Given the description of an element on the screen output the (x, y) to click on. 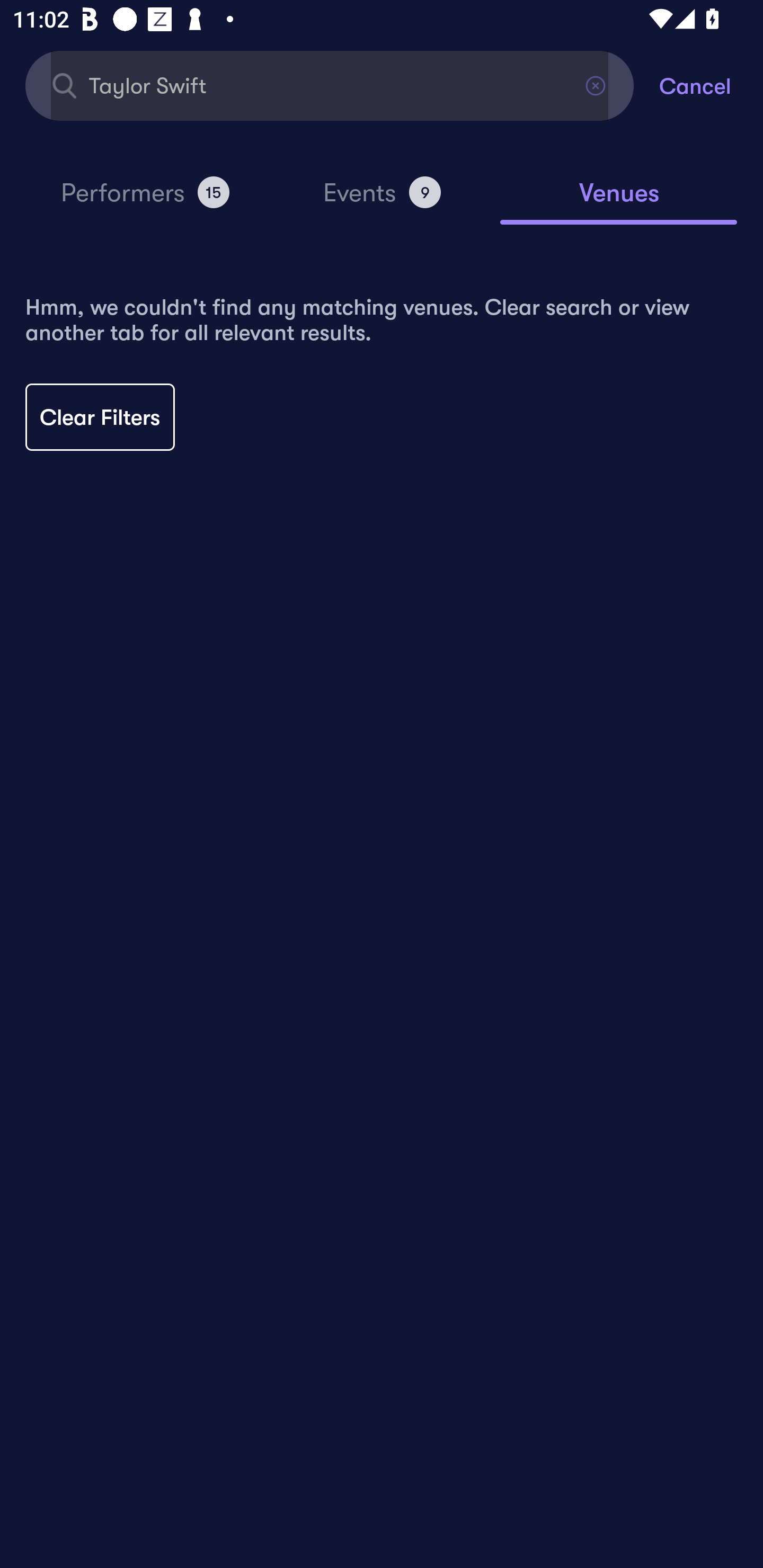
Taylor Swift Find (329, 85)
Taylor Swift Find (329, 85)
Cancel (711, 85)
Performers 15 (144, 200)
Events 9 (381, 200)
Venues (618, 201)
Clear Filters (99, 417)
